Given the description of an element on the screen output the (x, y) to click on. 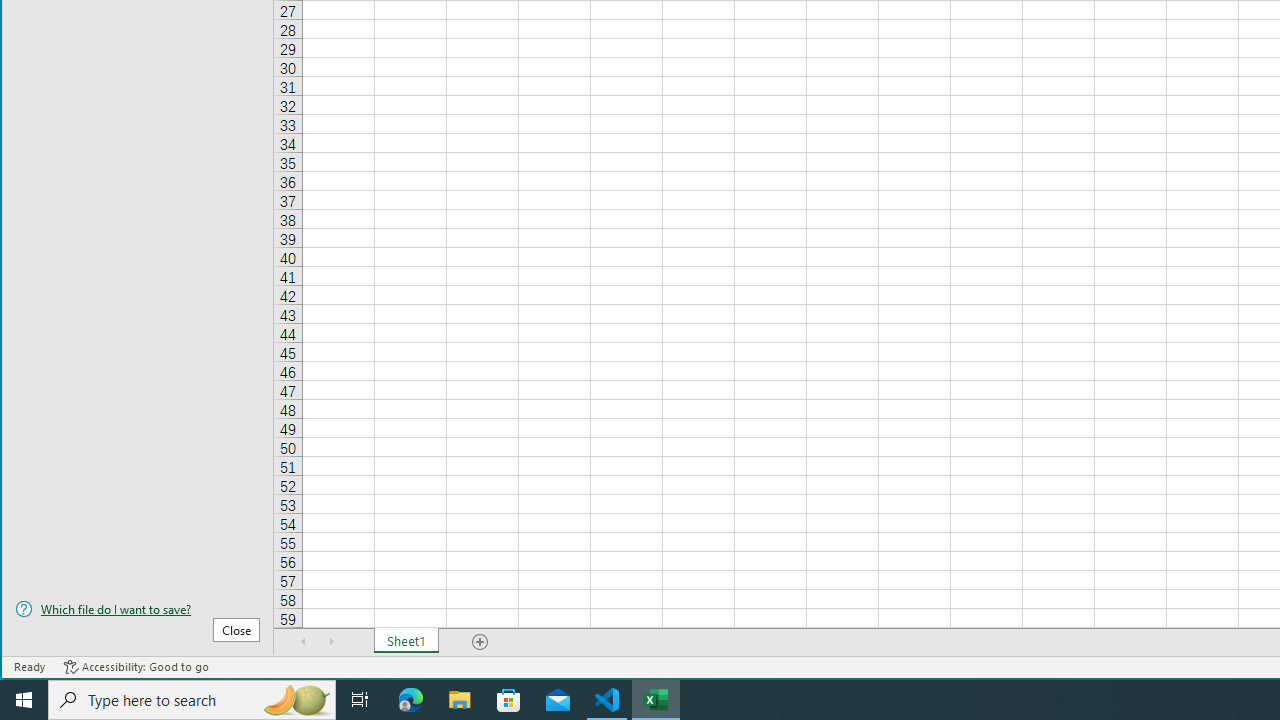
Task View (359, 699)
Sheet1 (406, 641)
Excel - 1 running window (656, 699)
Type here to search (191, 699)
Search highlights icon opens search home window (295, 699)
File Explorer (460, 699)
Microsoft Store (509, 699)
Add Sheet (481, 641)
Close (235, 629)
Scroll Left (303, 641)
Scroll Right (331, 641)
Start (24, 699)
Which file do I want to save? (137, 609)
Accessibility Checker Accessibility: Good to go (136, 667)
